Given the description of an element on the screen output the (x, y) to click on. 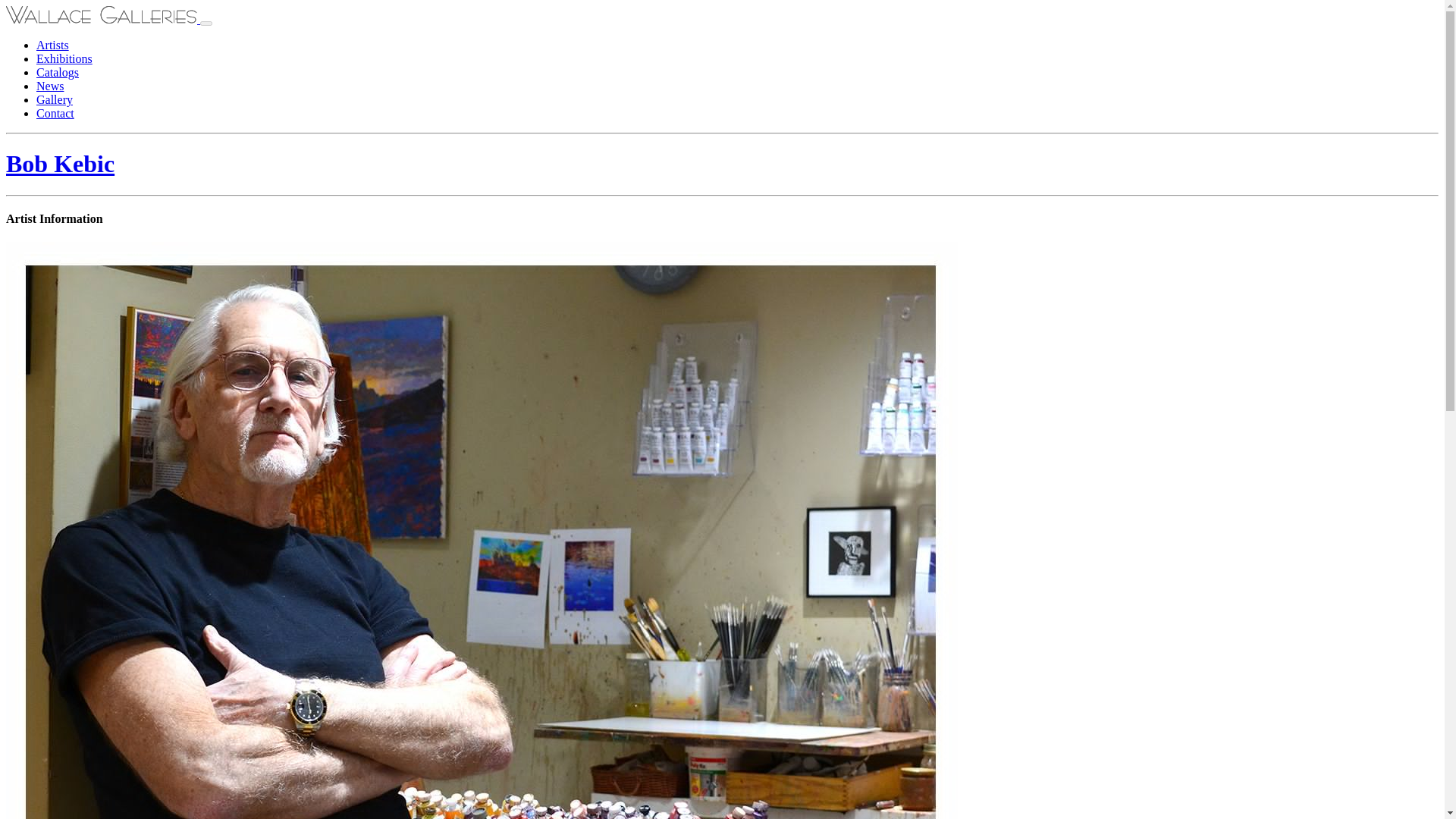
Bob Kebic (60, 163)
Artists (52, 44)
Contact (55, 113)
Catalogs (57, 72)
Exhibitions (64, 58)
Gallery (54, 99)
News (50, 85)
